Given the description of an element on the screen output the (x, y) to click on. 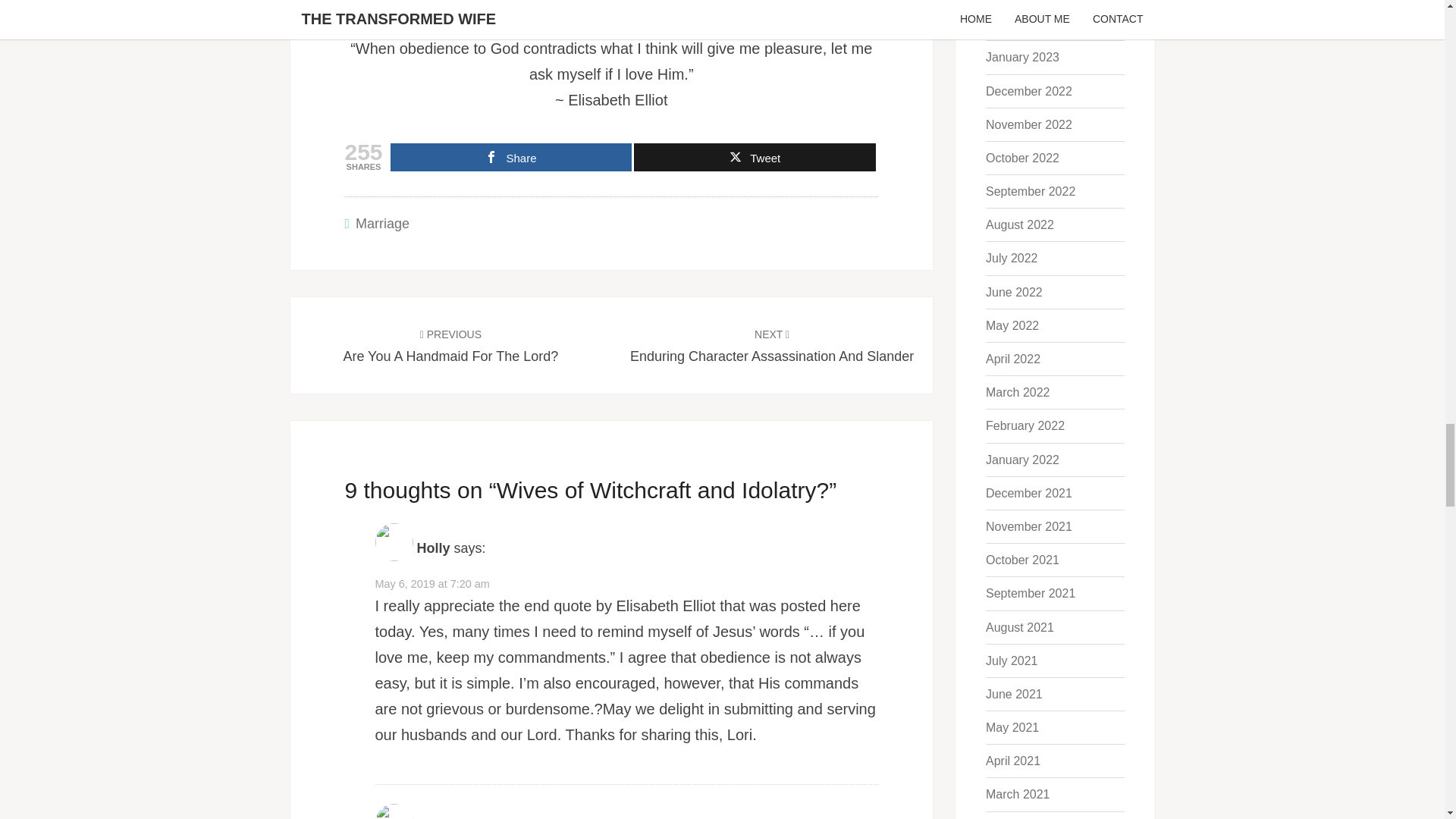
Marriage (382, 223)
Tweet (449, 344)
Share (754, 157)
May 6, 2019 at 7:20 am (510, 157)
